Given the description of an element on the screen output the (x, y) to click on. 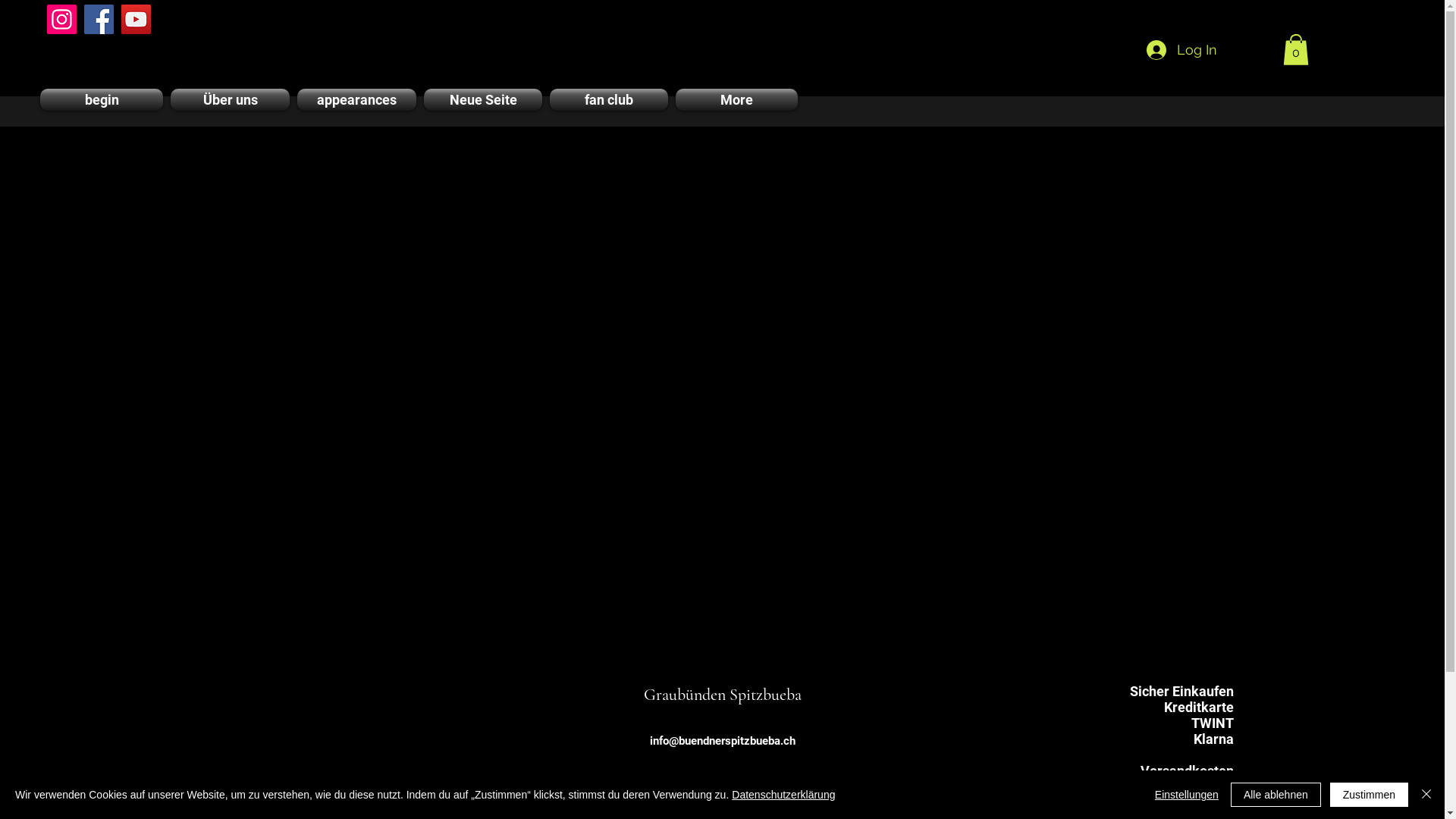
Zustimmen Element type: text (1369, 794)
appearances Element type: text (356, 99)
fan club Element type: text (608, 99)
Alle ablehnen Element type: text (1275, 794)
0 Element type: text (1295, 49)
Log In Element type: text (1180, 49)
info@buendnerspitzbueba.ch Element type: text (721, 740)
begin Element type: text (103, 99)
TWIPLA (Visitor Analytics) Element type: hover (1442, 4)
Neue Seite Element type: text (483, 99)
